Given the description of an element on the screen output the (x, y) to click on. 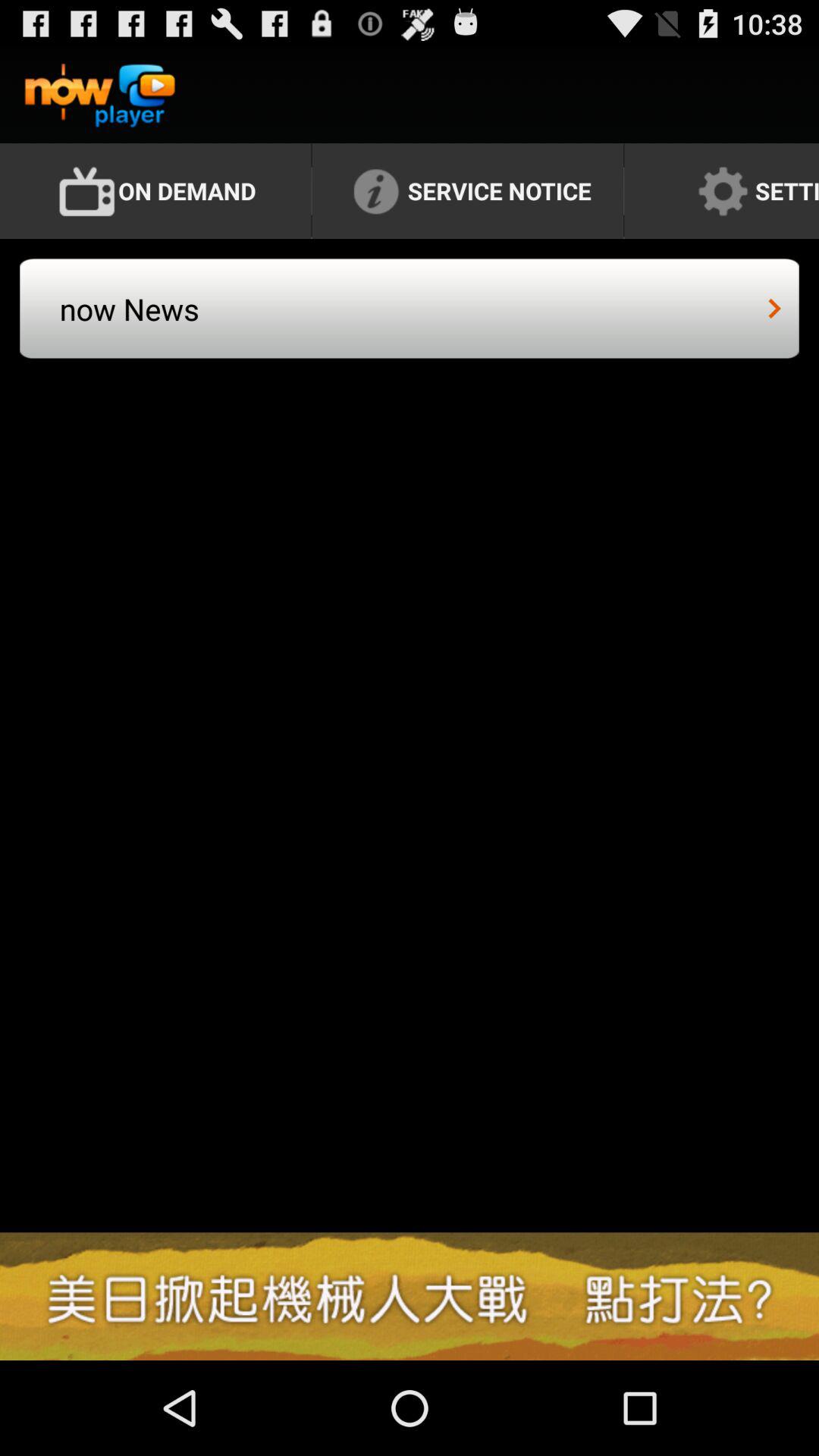
flip to the now news app (235, 323)
